Given the description of an element on the screen output the (x, y) to click on. 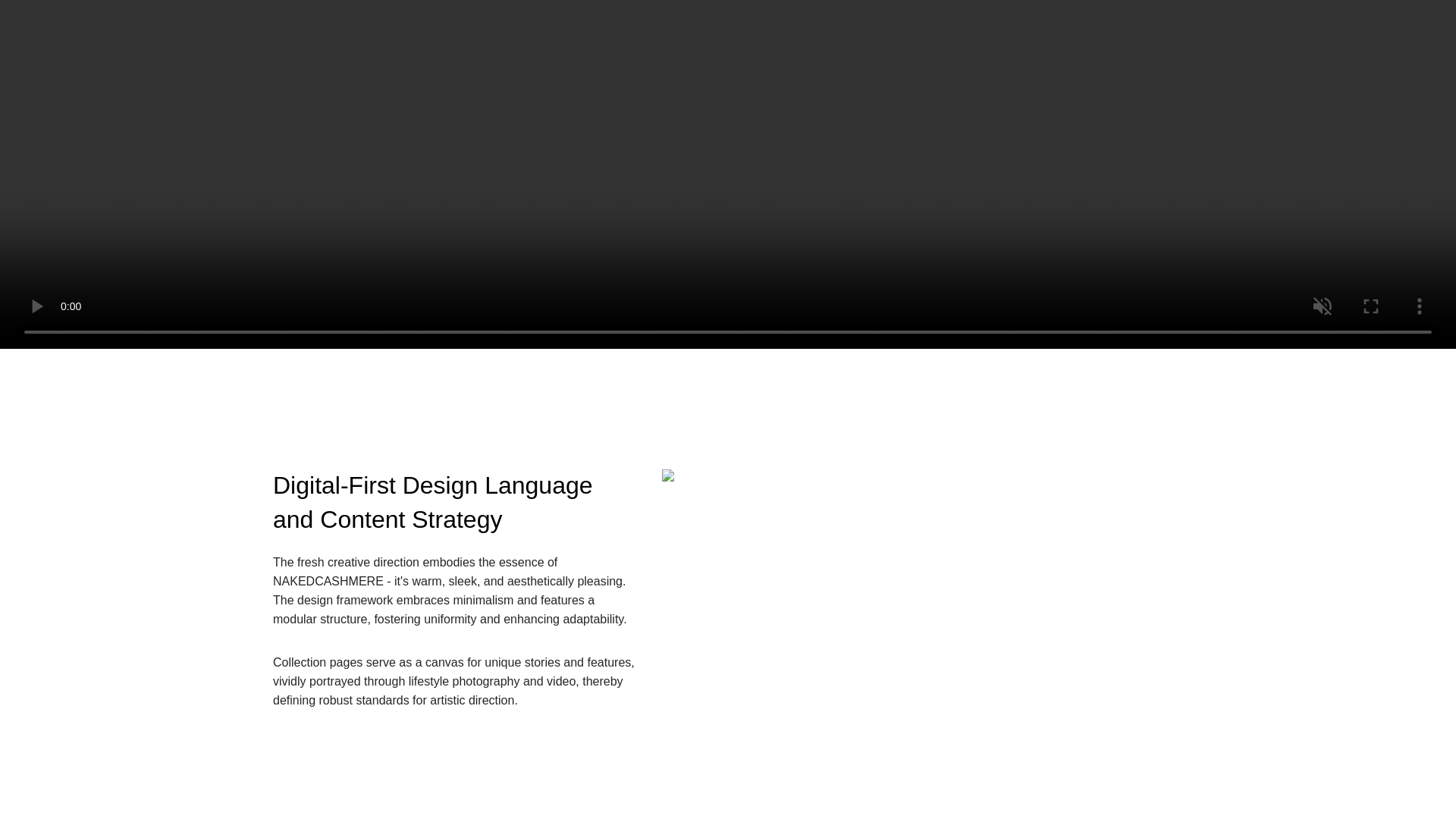
Digital-First Design Language and Content Strategy (456, 502)
